Given the description of an element on the screen output the (x, y) to click on. 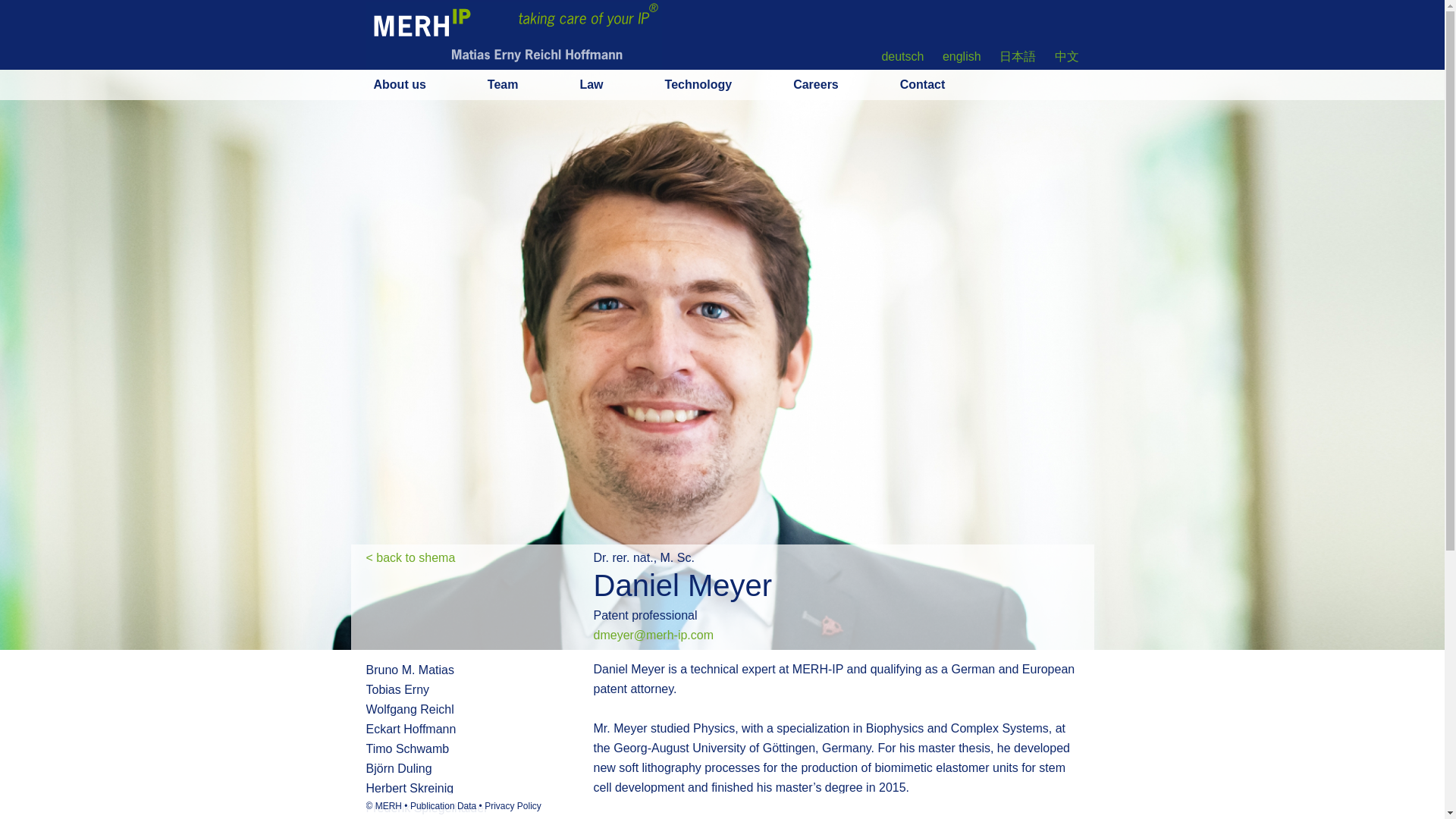
Law (615, 84)
Team (527, 84)
Contact (946, 84)
Frederik Spiegelhalder (478, 808)
Bruno M. Matias (478, 670)
About us (423, 84)
Technology (723, 84)
Careers (840, 84)
Timo Schwamb (478, 749)
